Given the description of an element on the screen output the (x, y) to click on. 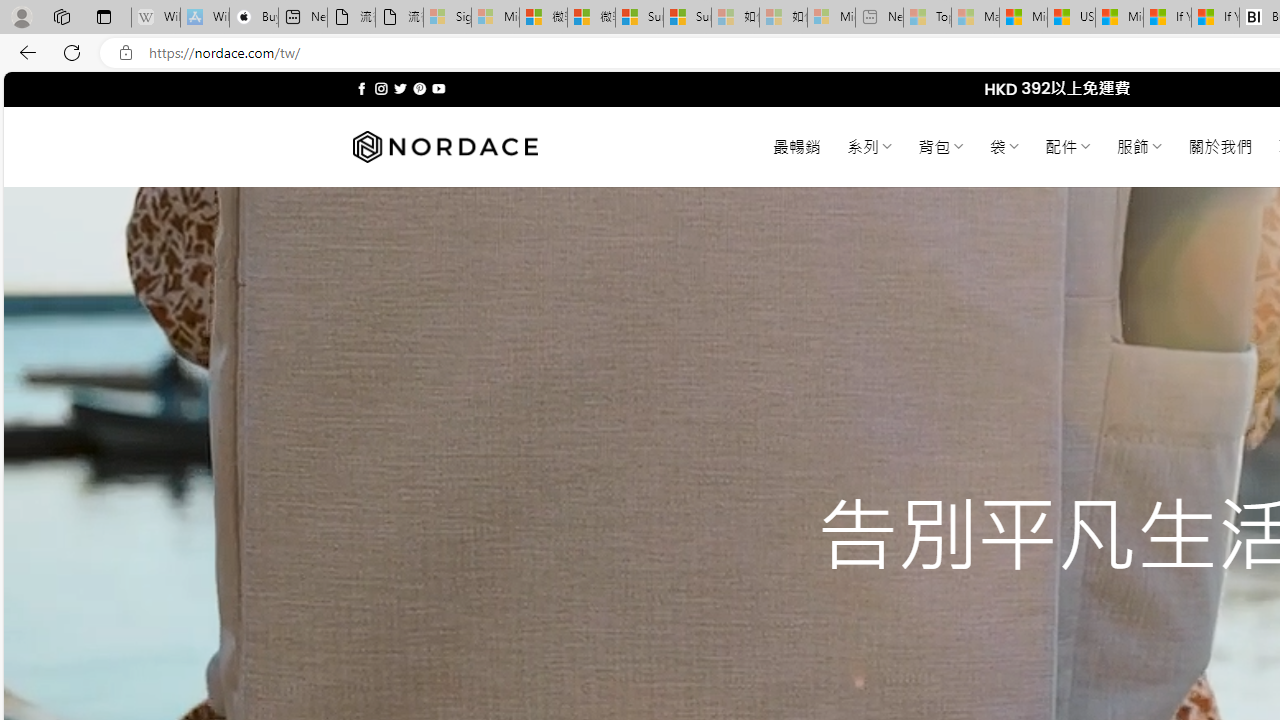
Marine life - MSN - Sleeping (975, 17)
